Given the description of an element on the screen output the (x, y) to click on. 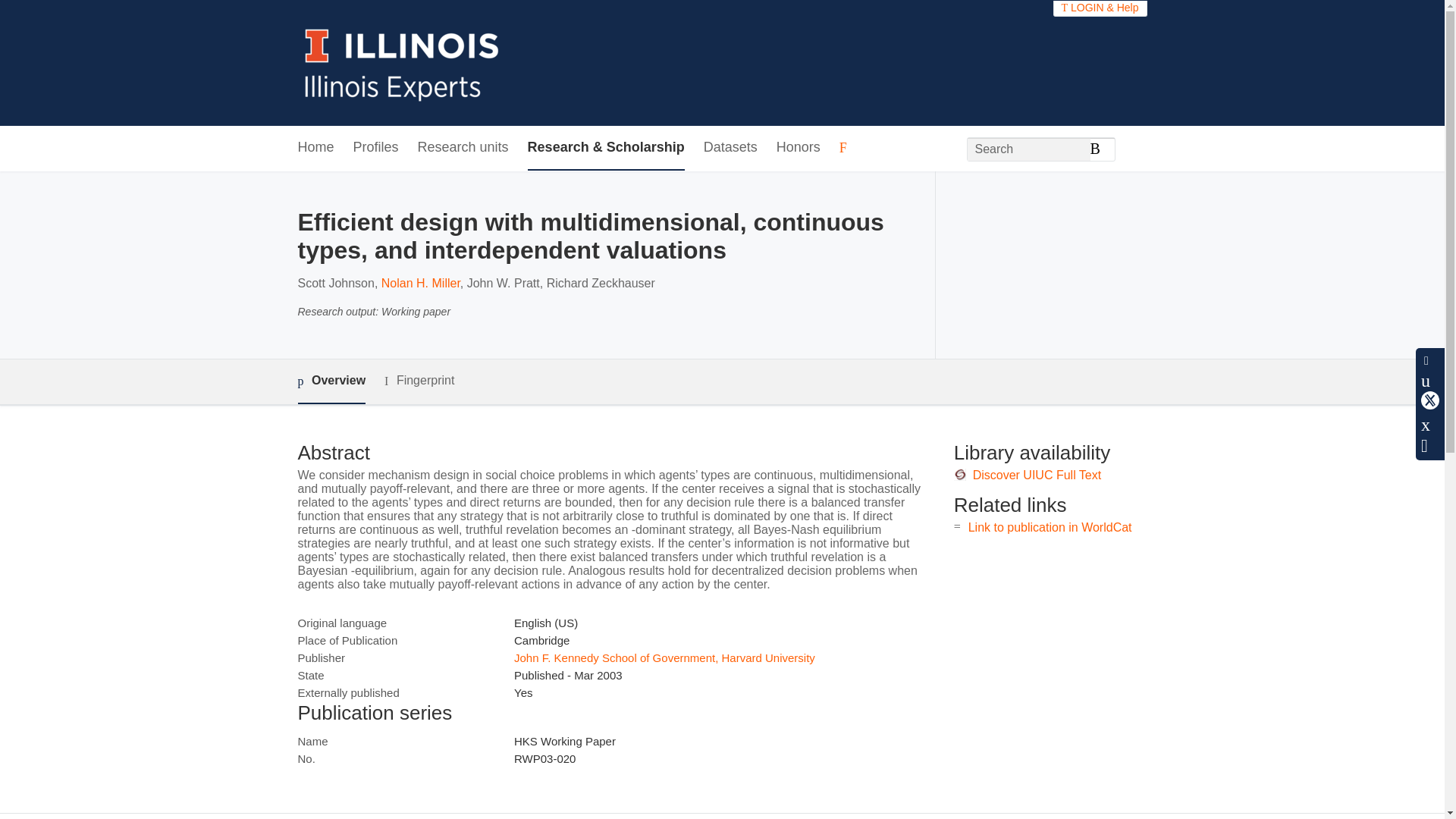
Datasets (730, 148)
Nolan H. Miller (420, 282)
University of Illinois Urbana-Champaign Home (402, 62)
Link to publication in WorldCat (1050, 526)
Home (315, 148)
John F. Kennedy School of Government, Harvard University (664, 657)
Profiles (375, 148)
Overview (331, 381)
Research units (462, 148)
Discover UIUC Full Text (1037, 474)
Fingerprint (419, 380)
Honors (798, 148)
